Given the description of an element on the screen output the (x, y) to click on. 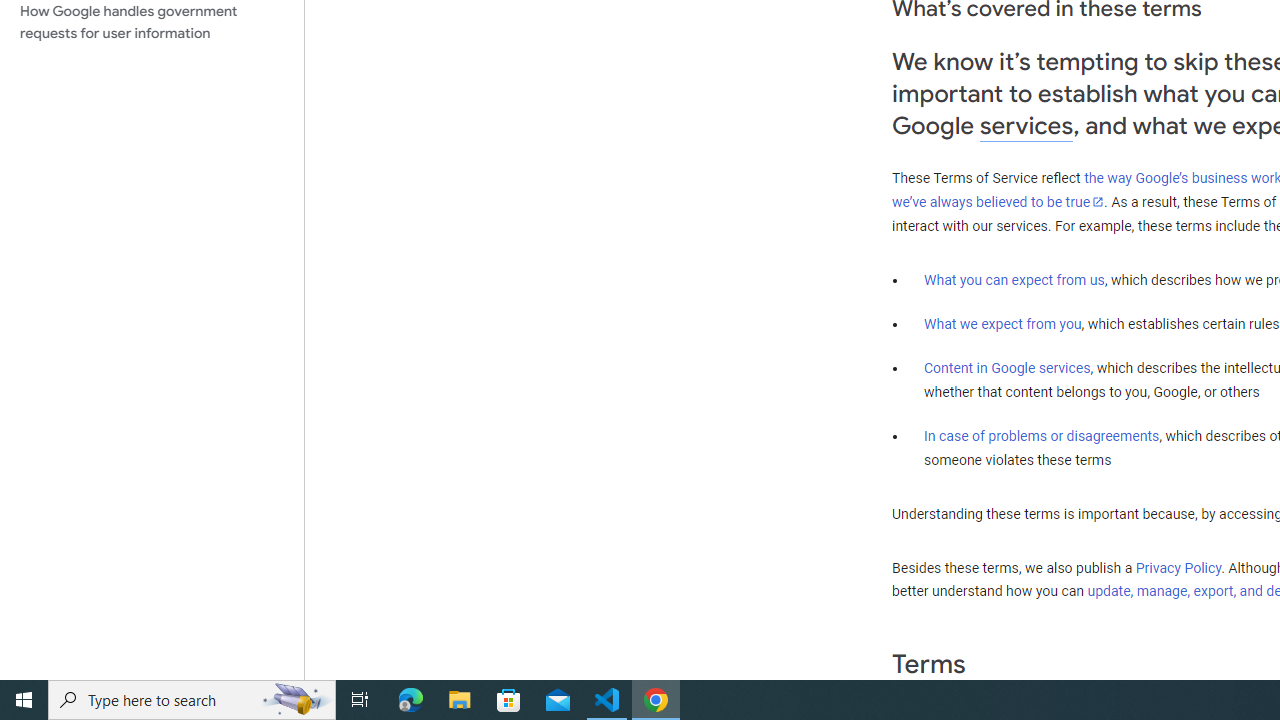
What you can expect from us (1014, 279)
In case of problems or disagreements (1041, 435)
Privacy Policy (1178, 567)
What we expect from you (1002, 323)
services (1026, 125)
Content in Google services (1007, 368)
